Given the description of an element on the screen output the (x, y) to click on. 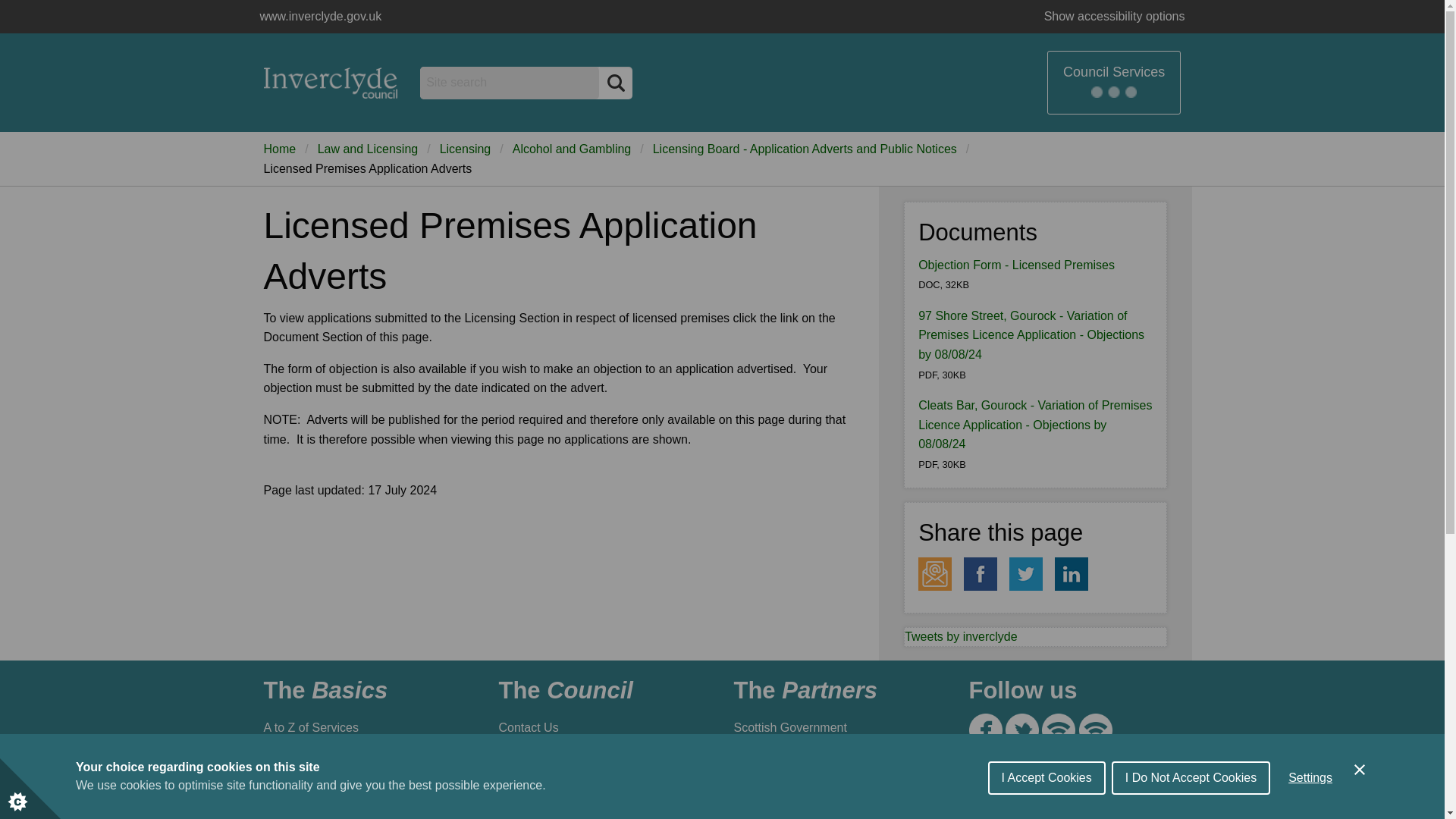
Opens a .pdf (1034, 424)
Opens a .pdf (1031, 335)
Do It Online (363, 756)
Share on Facebook (980, 573)
Show accessibility options (1114, 16)
Opens a .doc (1016, 264)
Share this with LinkIn (1070, 573)
Alcohol and Gambling (571, 148)
Inverclyde Council News Feed (1058, 729)
www.inverclyde.gov.uk (330, 82)
